Given the description of an element on the screen output the (x, y) to click on. 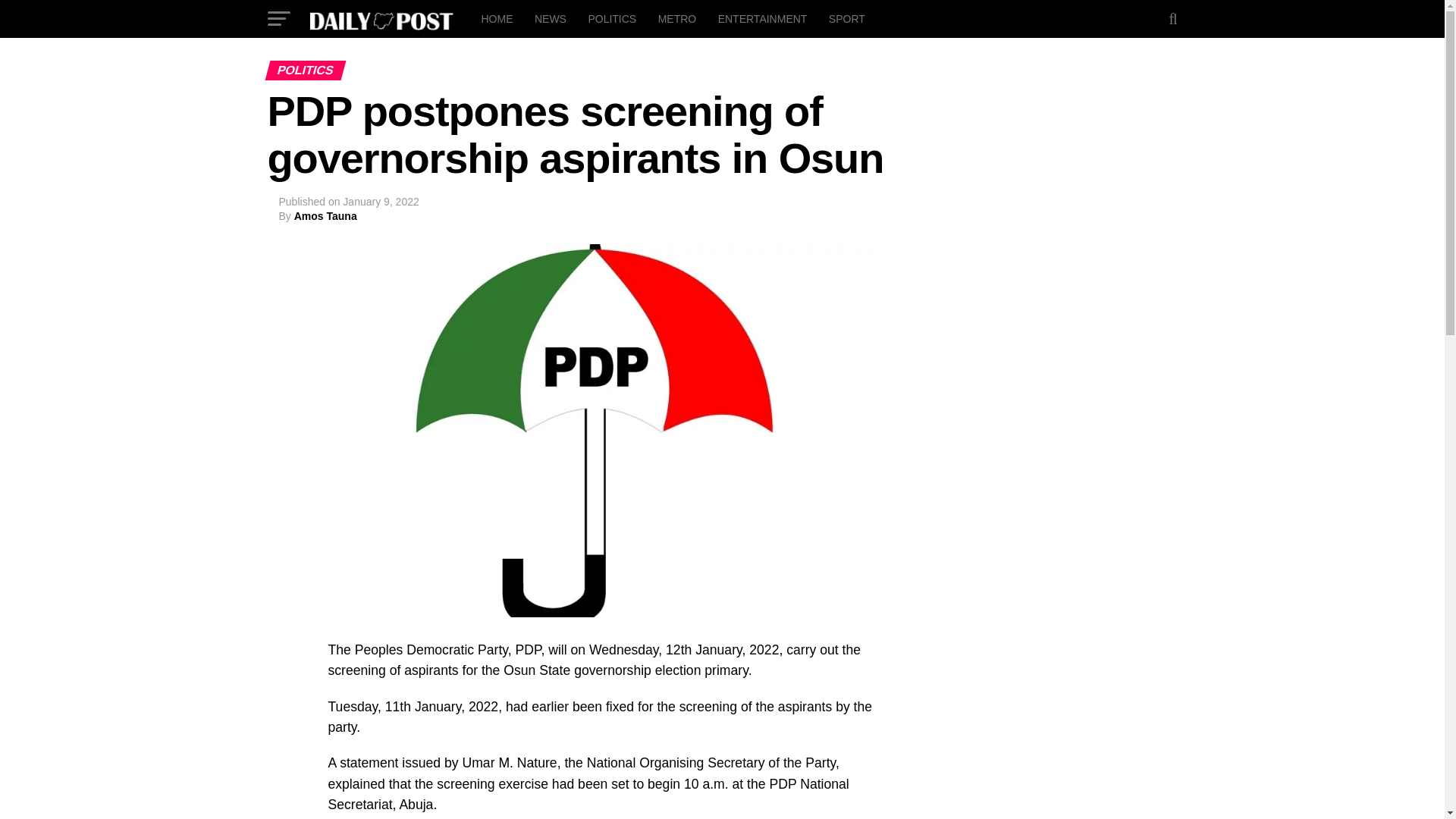
METRO (677, 18)
HOME (496, 18)
POLITICS (611, 18)
NEWS (550, 18)
SPORT (847, 18)
ENTERTAINMENT (762, 18)
Posts by Amos Tauna (325, 215)
Amos Tauna (325, 215)
